Given the description of an element on the screen output the (x, y) to click on. 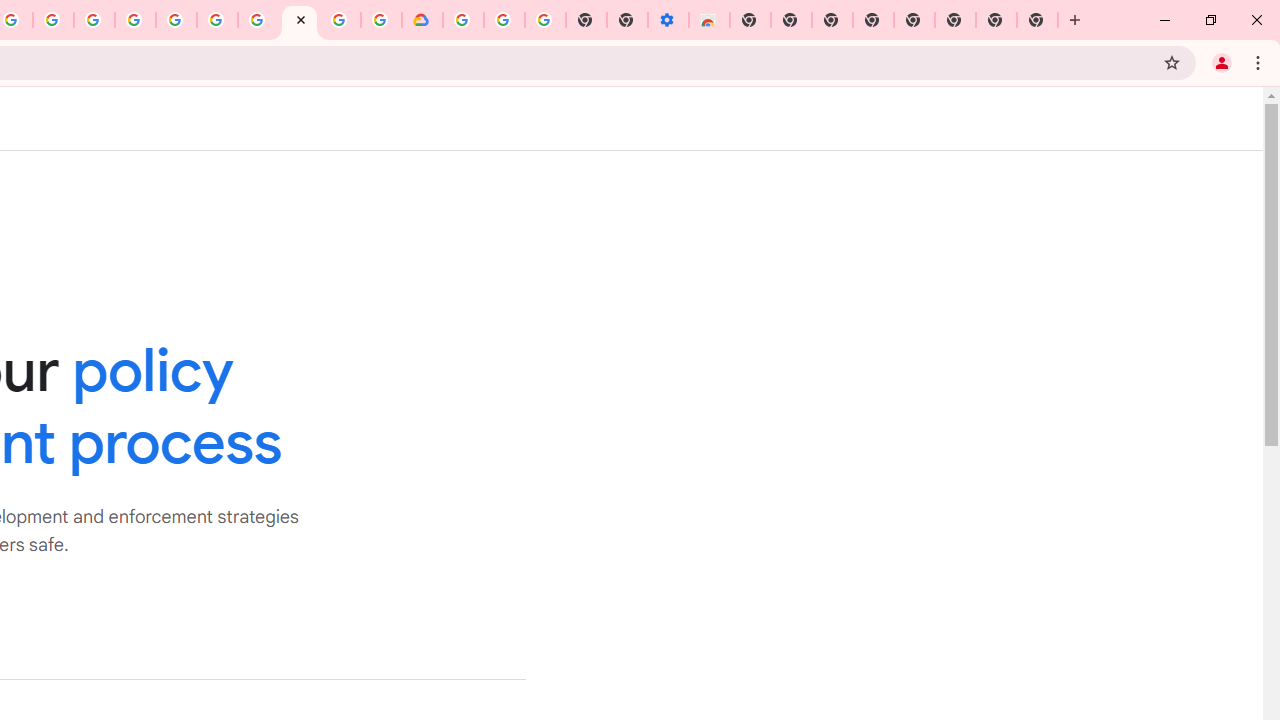
New Tab (1037, 20)
New Tab (749, 20)
Browse the Google Chrome Community - Google Chrome Community (381, 20)
